Given the description of an element on the screen output the (x, y) to click on. 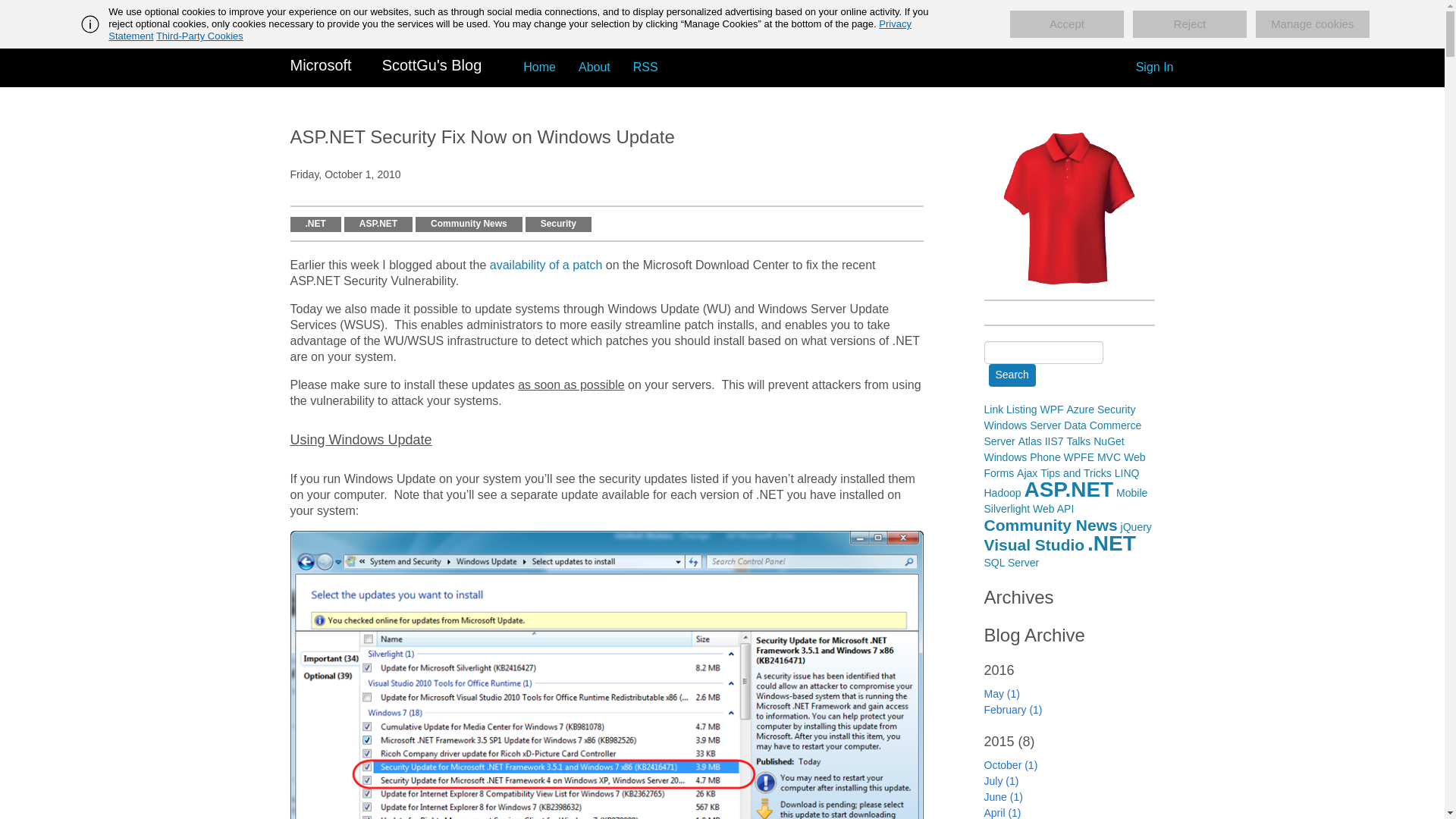
Manage cookies (1312, 23)
Security (558, 224)
ASP.NET (377, 224)
Reject (1189, 23)
RSS (645, 67)
.NET (314, 224)
Community News (468, 224)
Microsoft (320, 67)
Accept (1067, 23)
ScottGu's Blog (432, 67)
Privacy Statement (509, 29)
Home (539, 67)
Sign In (1154, 67)
Third-Party Cookies (199, 35)
